Given the description of an element on the screen output the (x, y) to click on. 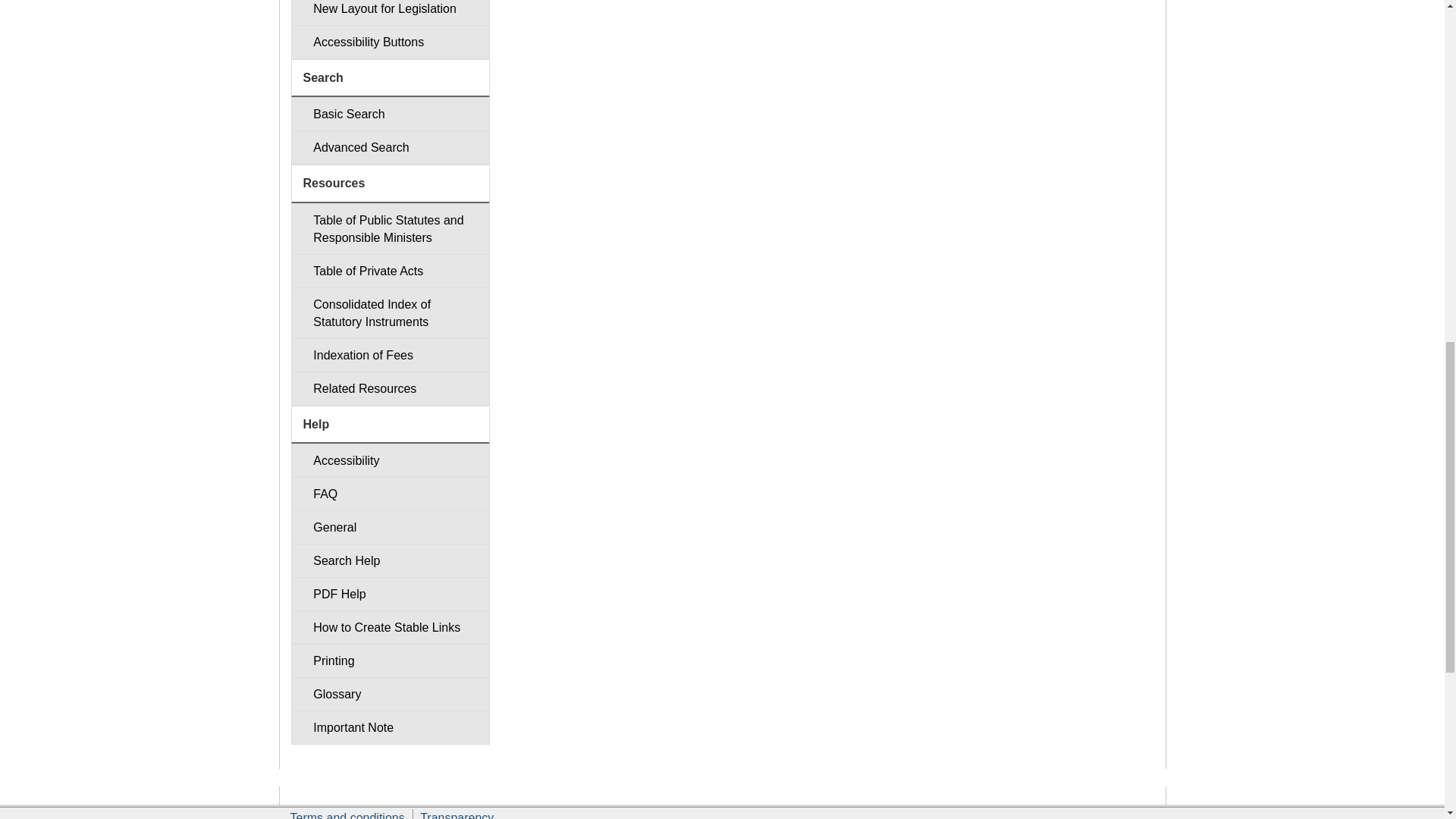
Advanced Search (390, 147)
Table of Private Acts (390, 270)
Table of Public Statutes and Responsible Ministers (390, 228)
Related Resources (390, 388)
General Help (390, 527)
Basic Search (390, 114)
New Layout for Legislation (390, 12)
Printing Help (390, 660)
Accessibility Help (390, 460)
Search - Justice Laws Website (390, 114)
Frequently Asked Questions (390, 493)
Accessibility Buttons (390, 41)
Indexation of Fees (390, 355)
Consolidated Index of Statutory Instruments (390, 313)
Advanced Search - Justice Laws Website (390, 147)
